Given the description of an element on the screen output the (x, y) to click on. 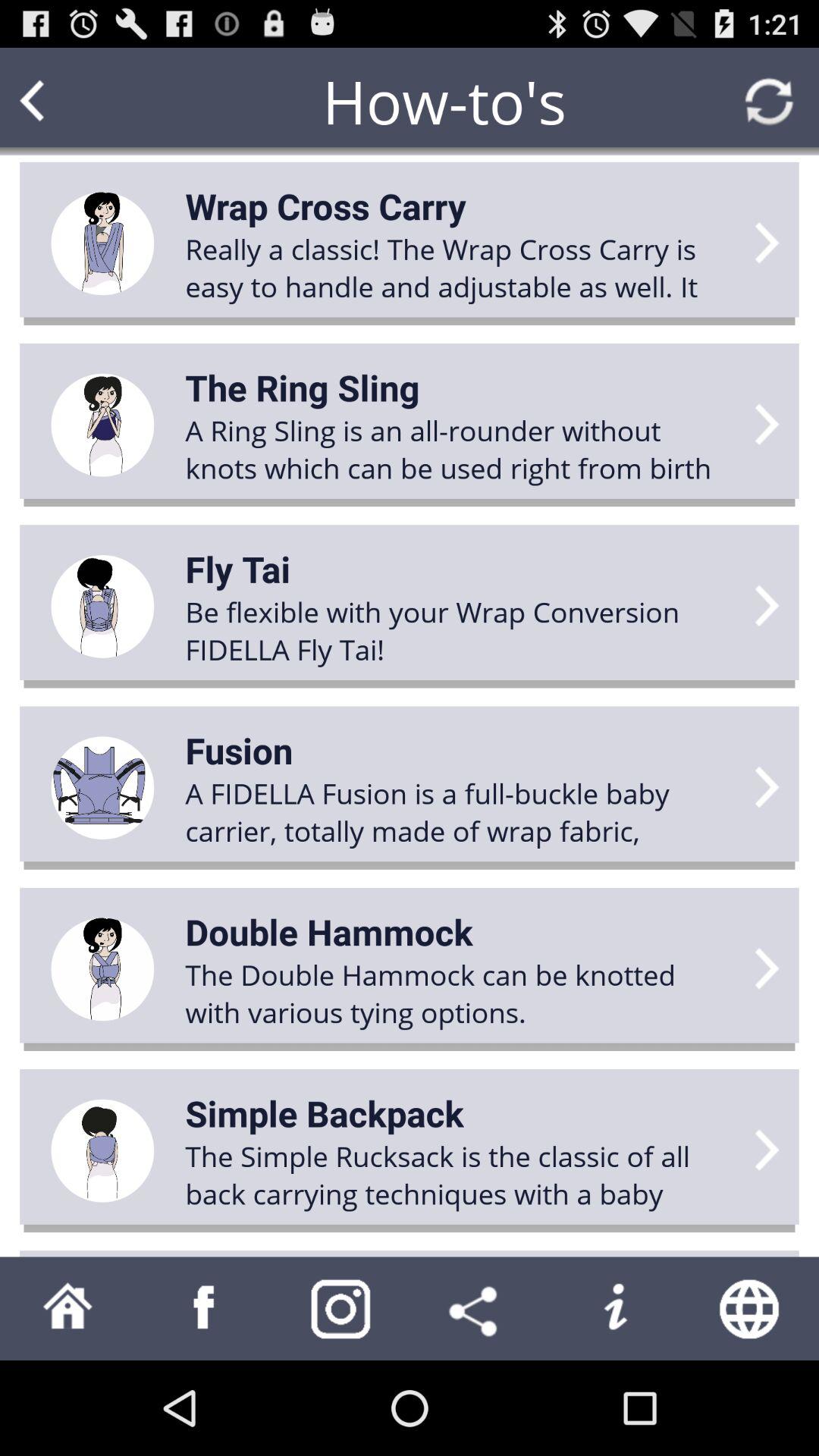
choose app above the the simple rucksack app (324, 1113)
